Given the description of an element on the screen output the (x, y) to click on. 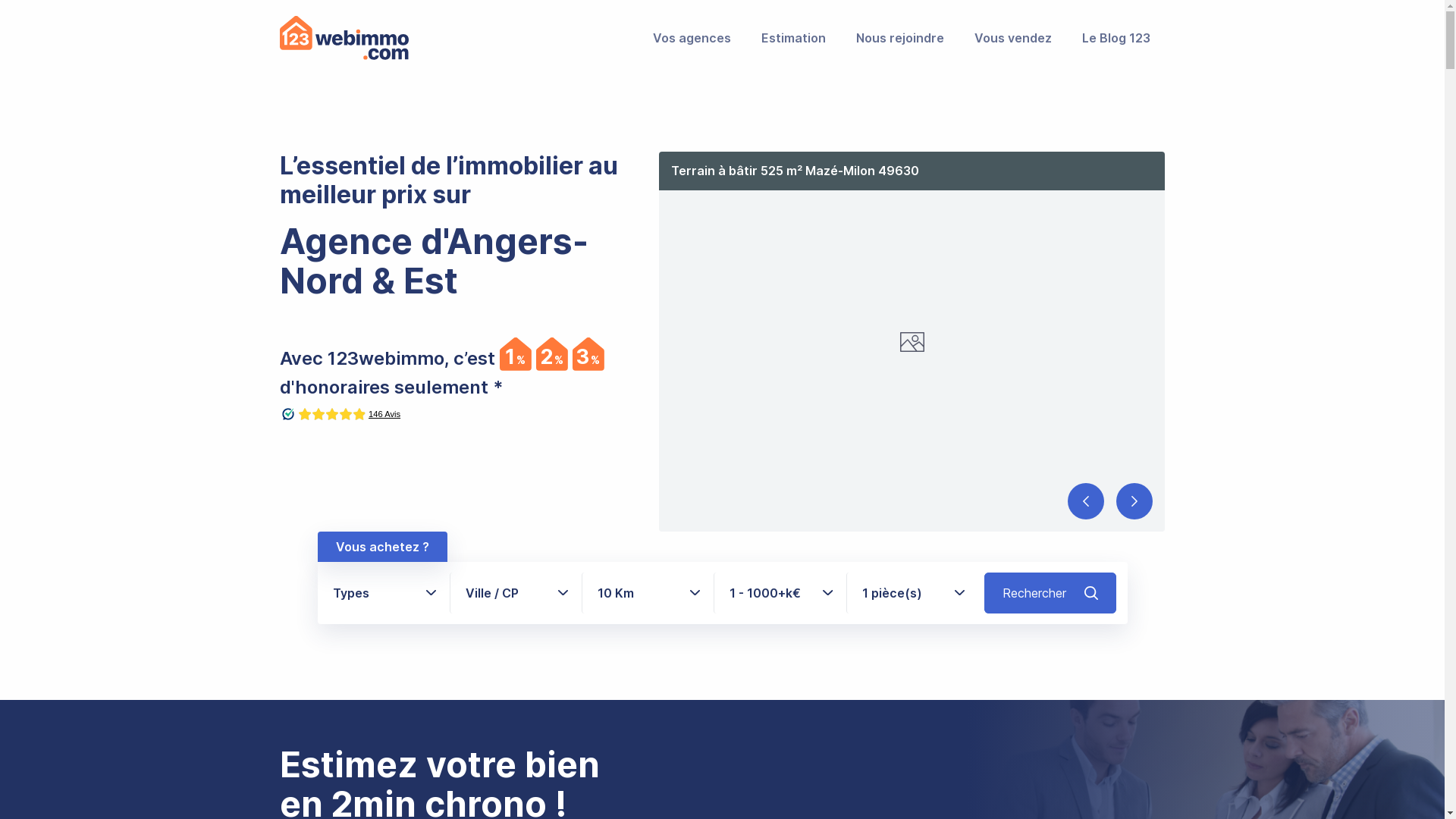
10 Km Element type: text (647, 592)
Ville / CP Element type: text (515, 592)
Rechercher Element type: text (1050, 592)
Vous achetez ? Element type: text (381, 546)
Nous rejoindre Element type: text (899, 37)
Estimation Element type: text (793, 37)
Le Blog 123 Element type: text (1115, 37)
Types Element type: text (382, 592)
Suivant Element type: text (1134, 501)
Vos agences Element type: text (691, 37)
Vous vendez Element type: text (1012, 37)
